Given the description of an element on the screen output the (x, y) to click on. 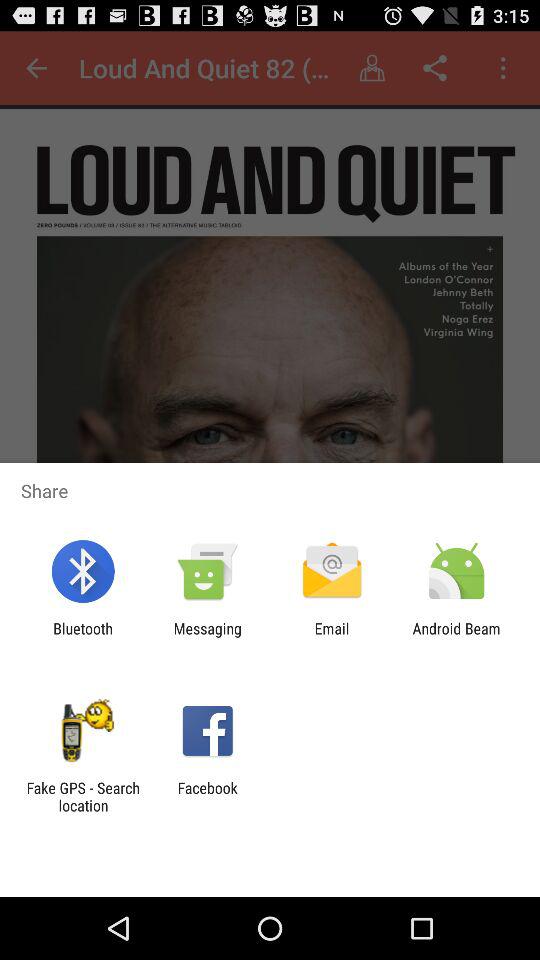
tap the app to the right of fake gps search app (207, 796)
